Given the description of an element on the screen output the (x, y) to click on. 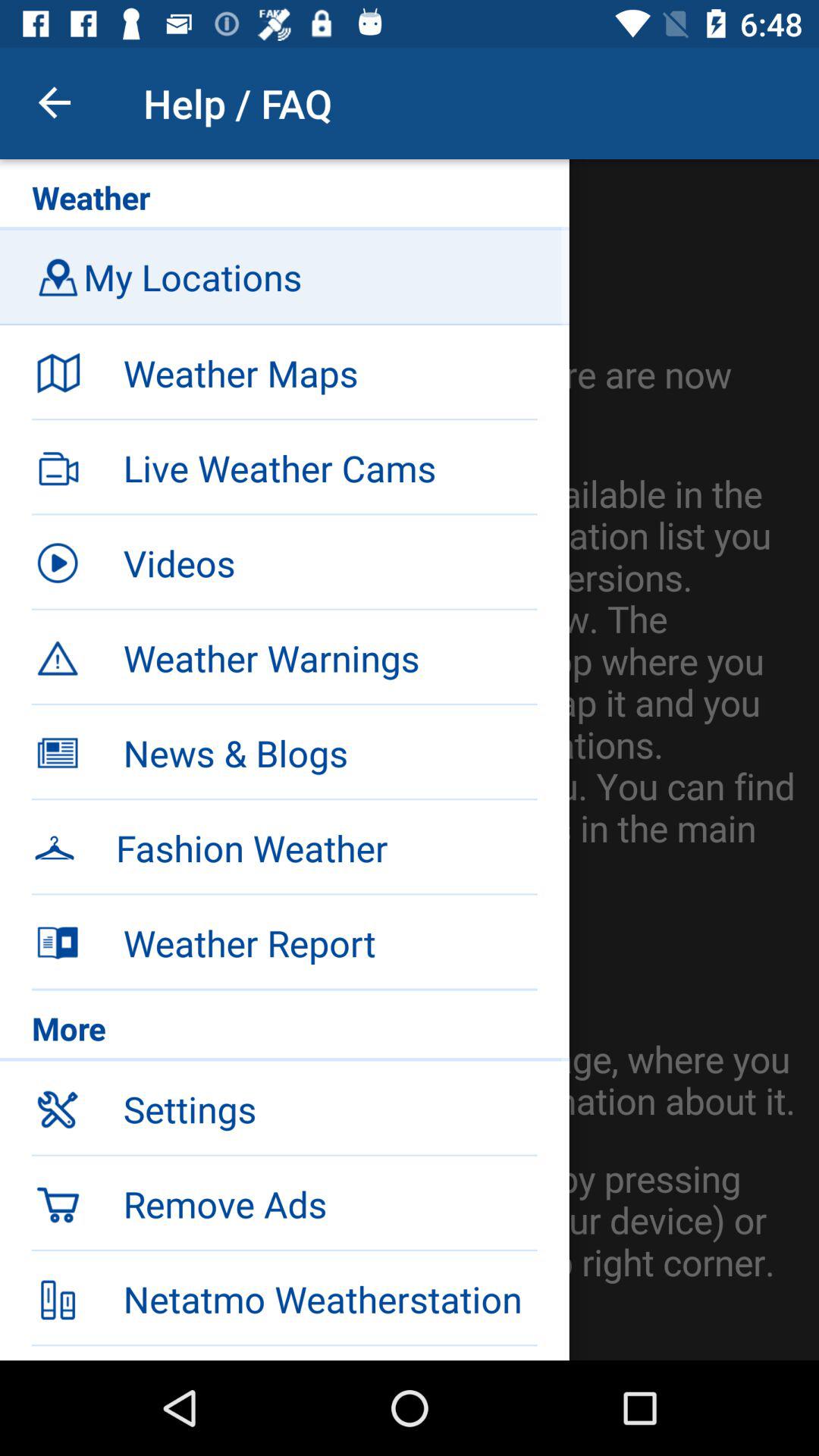
jump until the netatmo weatherstation (330, 1298)
